Given the description of an element on the screen output the (x, y) to click on. 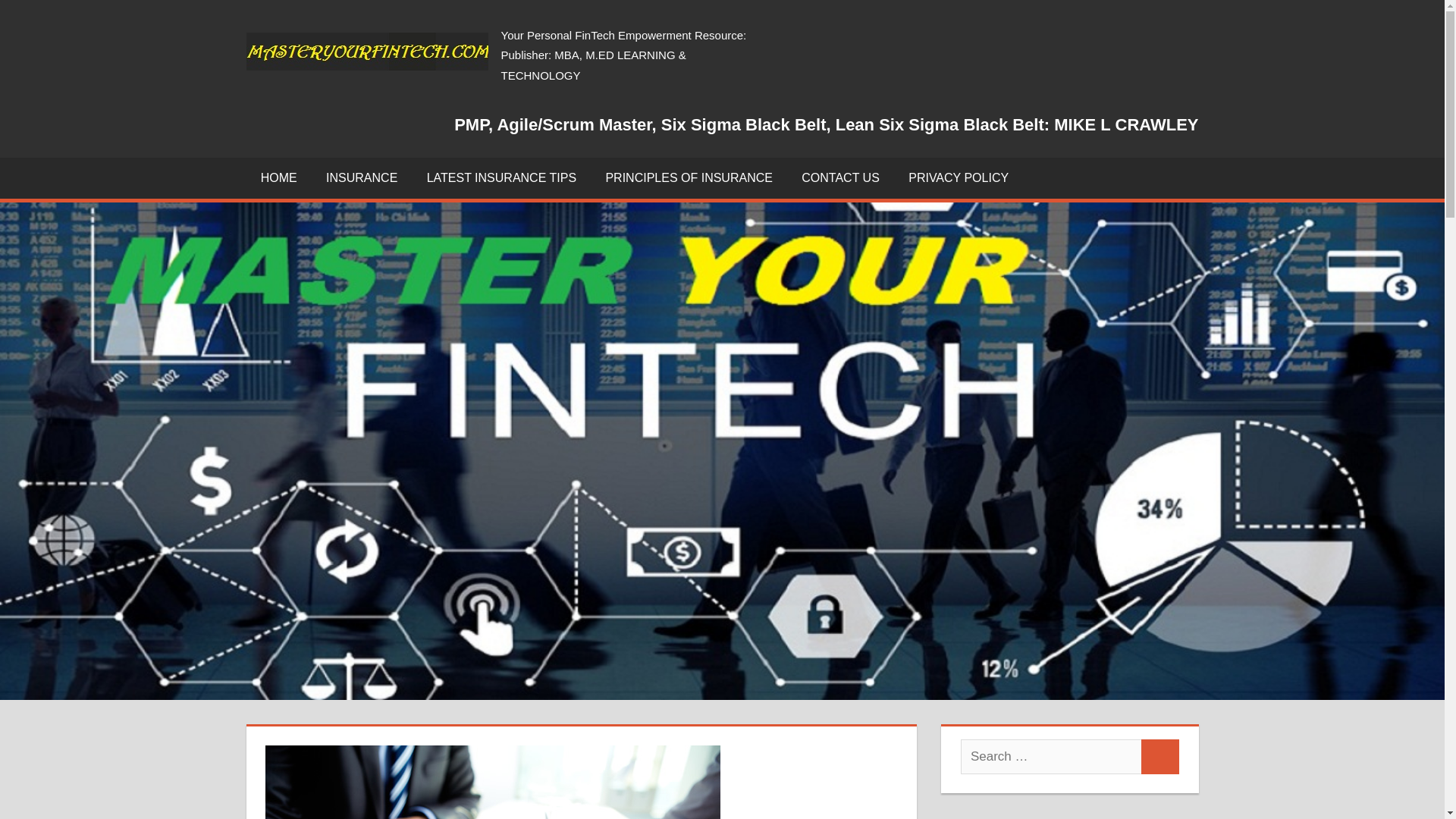
PRINCIPLES OF INSURANCE (689, 178)
PRIVACY POLICY (958, 178)
Search for: (1050, 756)
LATEST INSURANCE TIPS (501, 178)
HOME (278, 178)
CONTACT US (840, 178)
Search (1160, 756)
INSURANCE (361, 178)
